Given the description of an element on the screen output the (x, y) to click on. 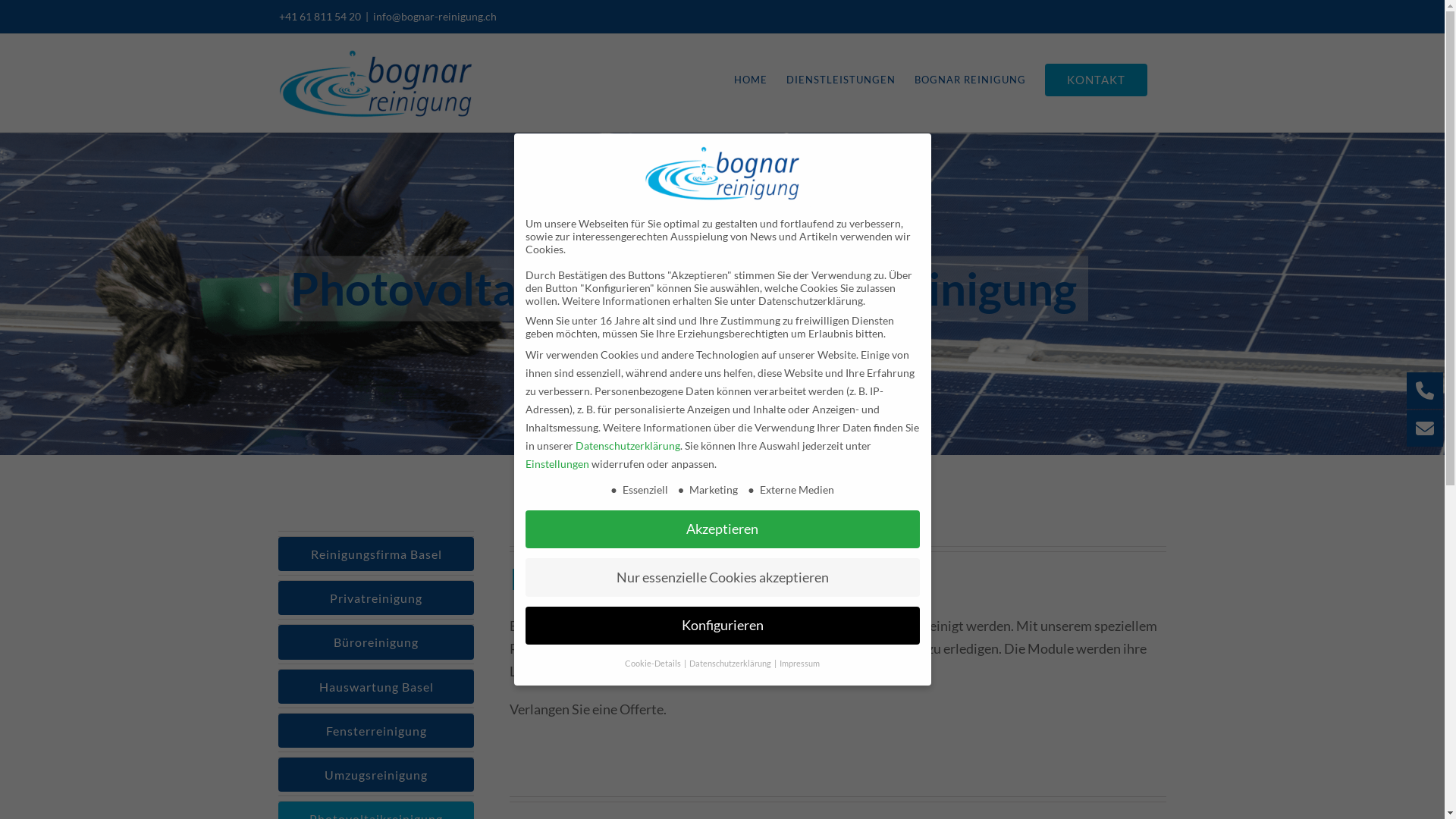
BOGNAR REINIGUNG Element type: text (970, 79)
DIENSTLEISTUNGEN Element type: text (839, 79)
Hauswartung Basel Element type: text (375, 686)
KONTAKT Element type: text (1095, 79)
Impressum Element type: text (799, 663)
info@bognar-reinigung.ch Element type: text (434, 15)
Akzeptieren Element type: text (721, 529)
+41 61 811 54 20 Element type: text (319, 15)
Privatreinigung Element type: text (375, 597)
Nur essenzielle Cookies akzeptieren Element type: text (721, 577)
Cookie-Details Element type: text (653, 663)
Umzugsreinigung Element type: text (375, 774)
HOME Element type: text (750, 79)
Konfigurieren Element type: text (721, 625)
Einstellungen Element type: text (556, 463)
Fensterreinigung Element type: text (375, 730)
Reinigungsfirma Basel Element type: text (375, 553)
